Given the description of an element on the screen output the (x, y) to click on. 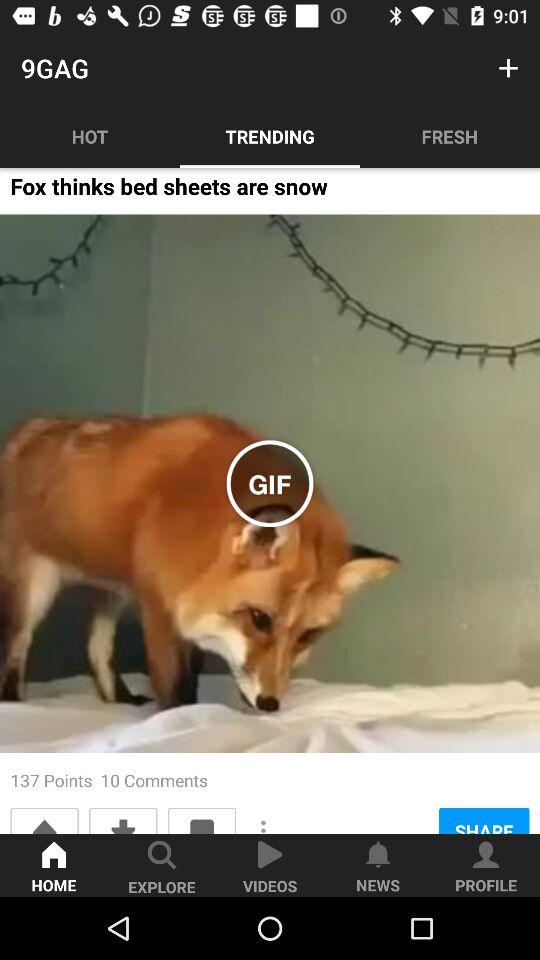
choose item below the 137 points 	10 icon (44, 820)
